Given the description of an element on the screen output the (x, y) to click on. 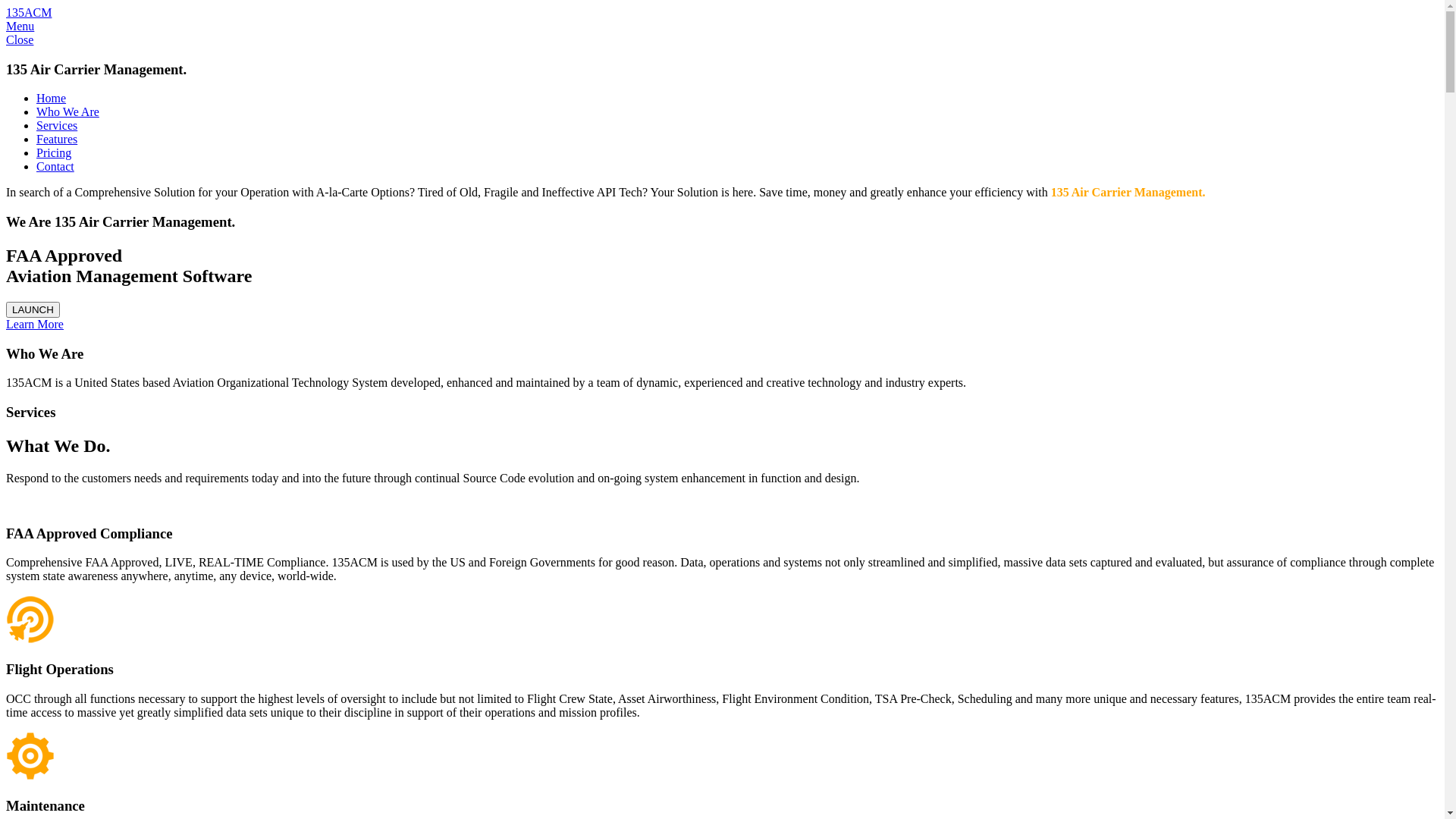
Menu Element type: text (20, 25)
Learn More Element type: text (34, 323)
Close Element type: text (19, 39)
LAUNCH Element type: text (32, 309)
Services Element type: text (56, 125)
Home Element type: text (50, 97)
Pricing Element type: text (53, 152)
Contact Element type: text (55, 166)
Who We Are Element type: text (67, 111)
Features Element type: text (56, 138)
135ACM Element type: text (28, 12)
